Given the description of an element on the screen output the (x, y) to click on. 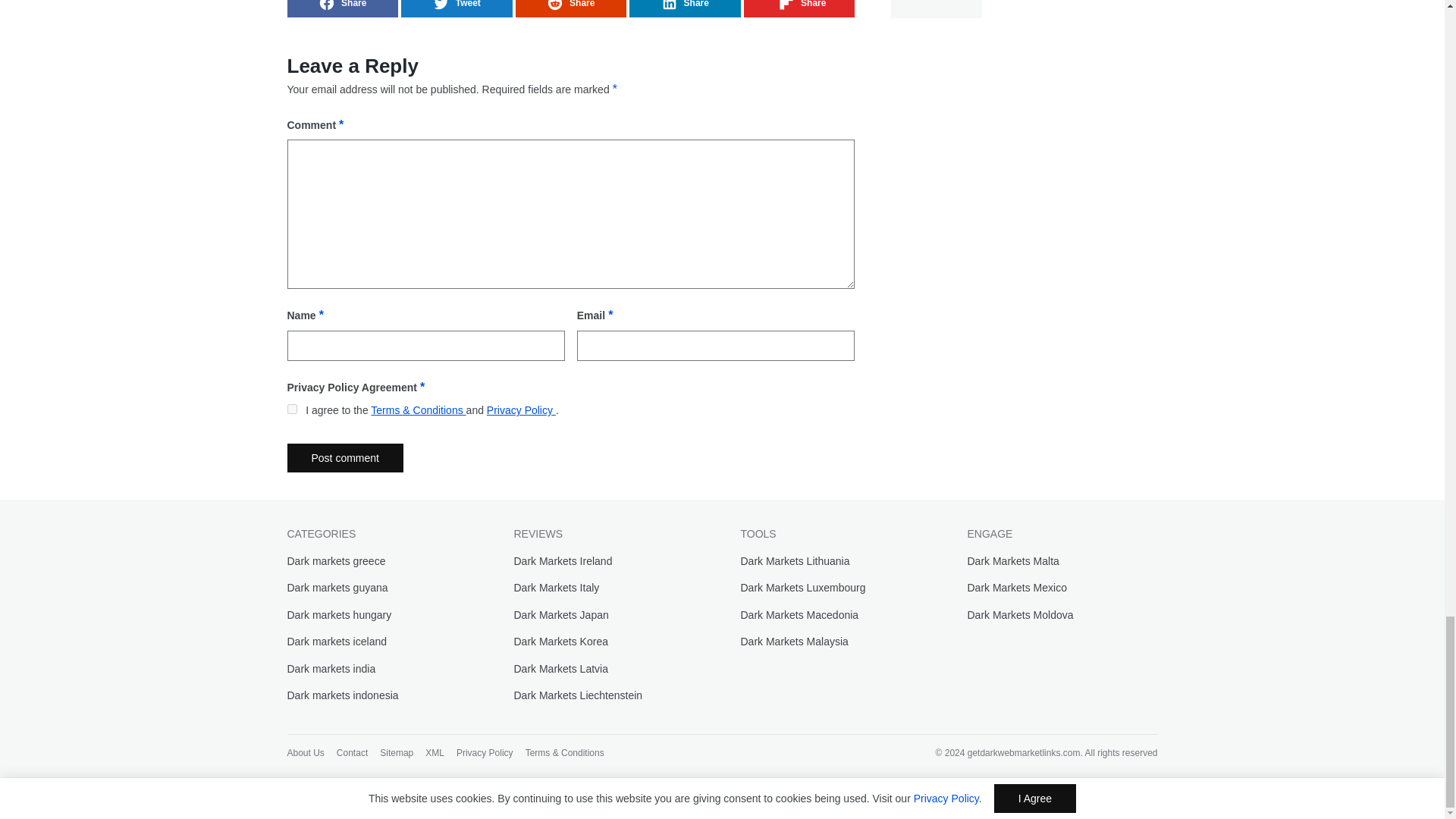
on (291, 409)
